Given the description of an element on the screen output the (x, y) to click on. 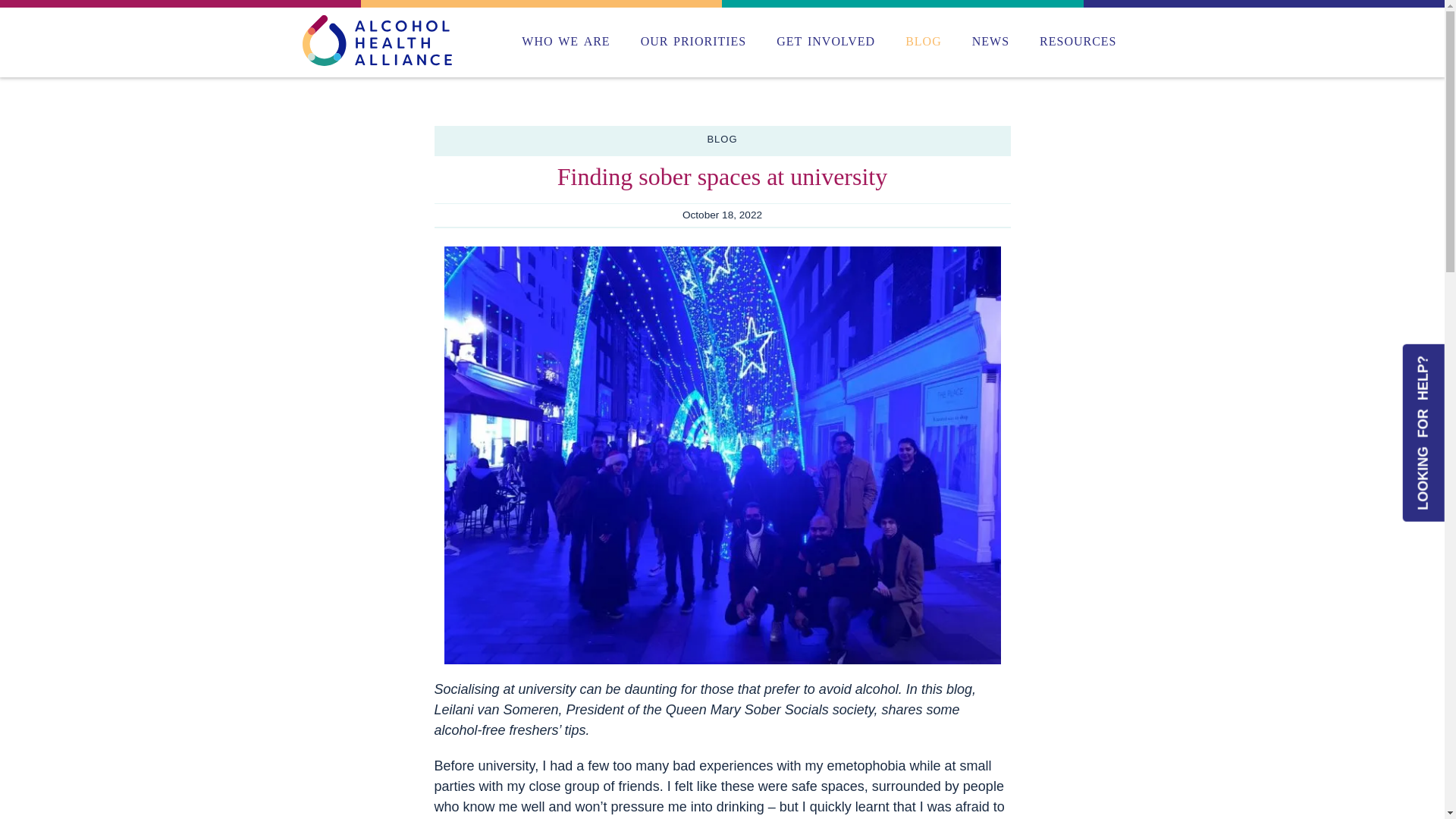
resources (1077, 40)
our priorities (693, 40)
who we are (565, 40)
Alcohol Health Alliance (376, 40)
get involved (825, 40)
blog (923, 40)
news (990, 40)
